Given the description of an element on the screen output the (x, y) to click on. 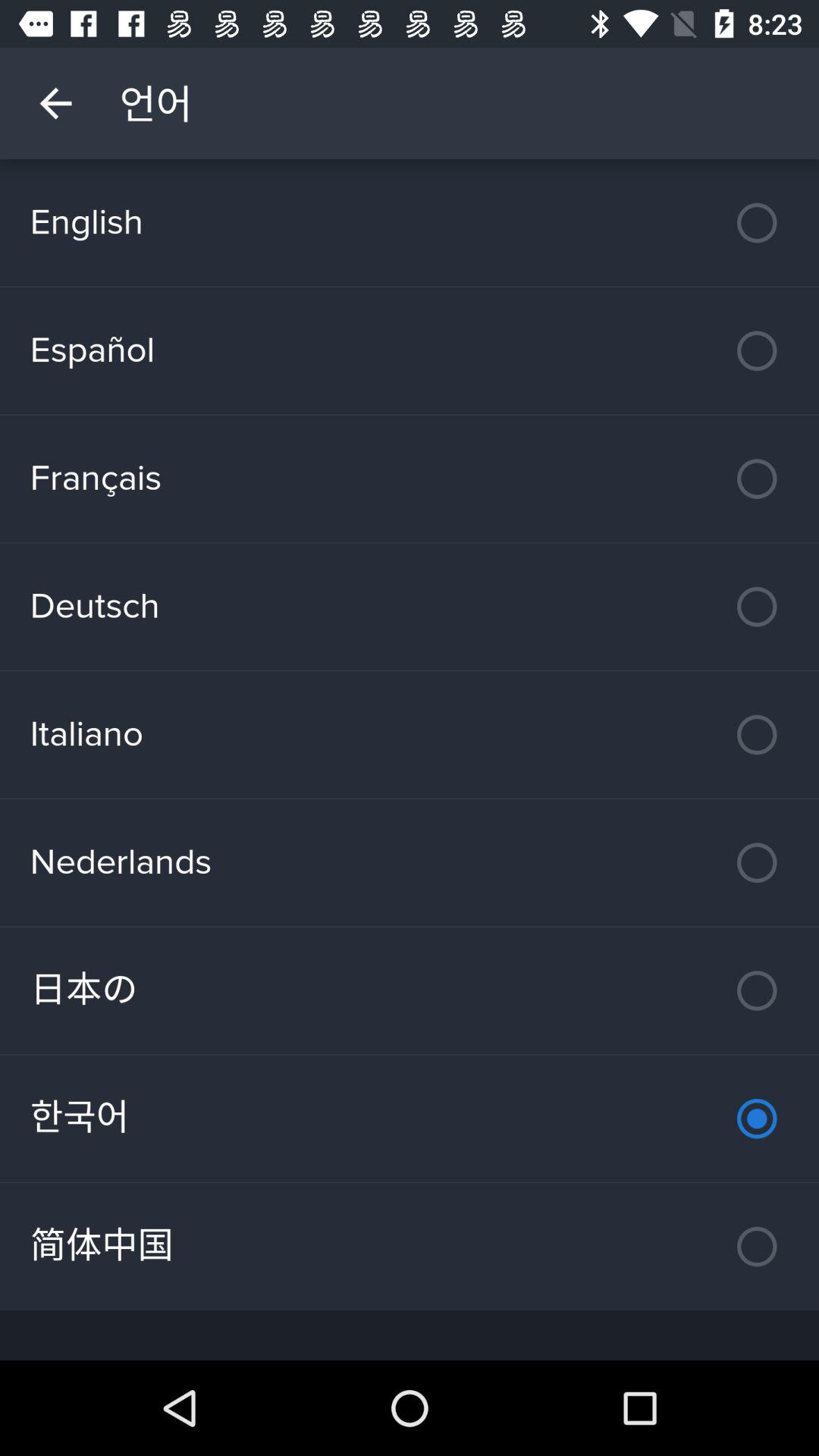
flip until the italiano icon (409, 734)
